Given the description of an element on the screen output the (x, y) to click on. 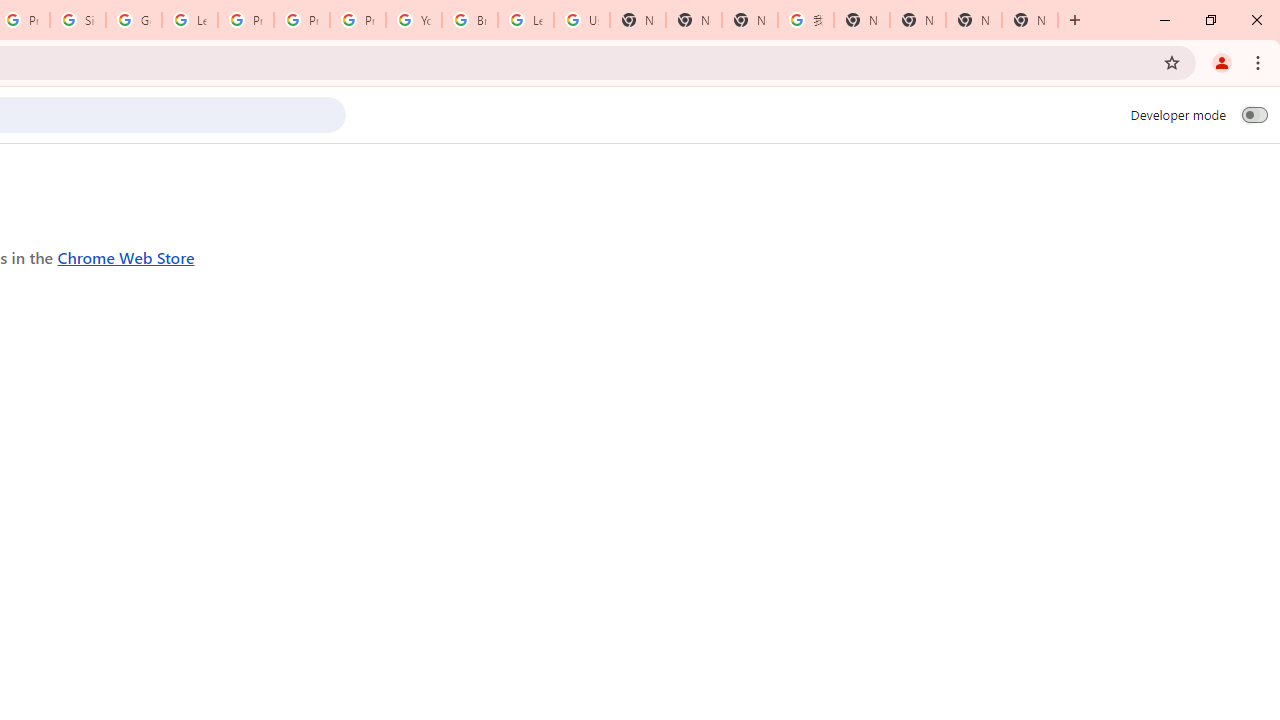
YouTube (413, 20)
Developer mode (1254, 114)
Privacy Help Center - Policies Help (301, 20)
